Given the description of an element on the screen output the (x, y) to click on. 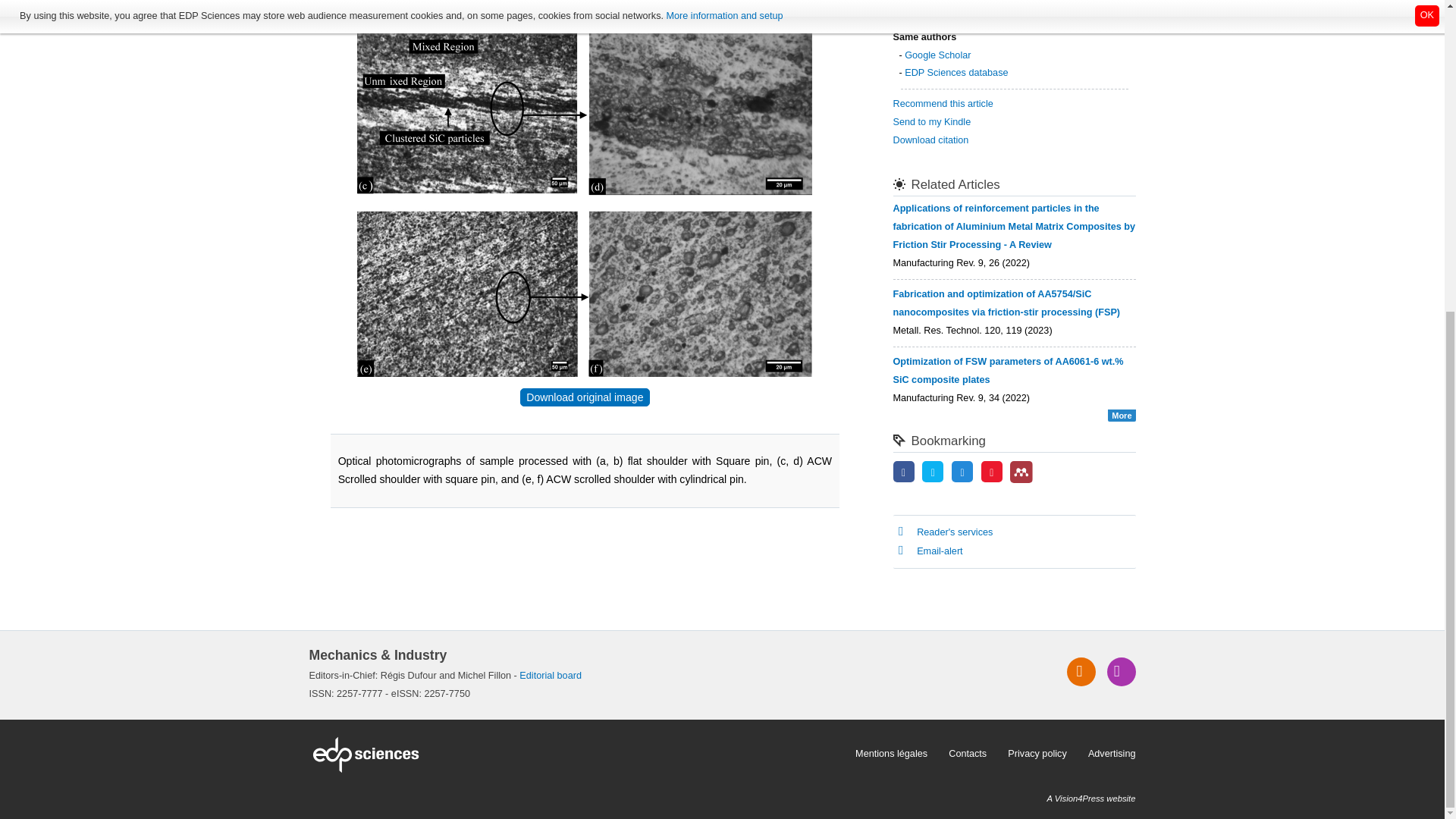
Register to the journal email alert (1120, 671)
Access our RSS feeds (1081, 671)
Share on Facebook (903, 472)
Share on Sina Weibo (992, 472)
Add this article to your Mendeley library (1021, 480)
Share on LinkedIn (962, 472)
Send this article to my Kindle (932, 122)
Mendeley (1021, 472)
EDP Sciences website (576, 754)
Share on Twitter (932, 472)
